Given the description of an element on the screen output the (x, y) to click on. 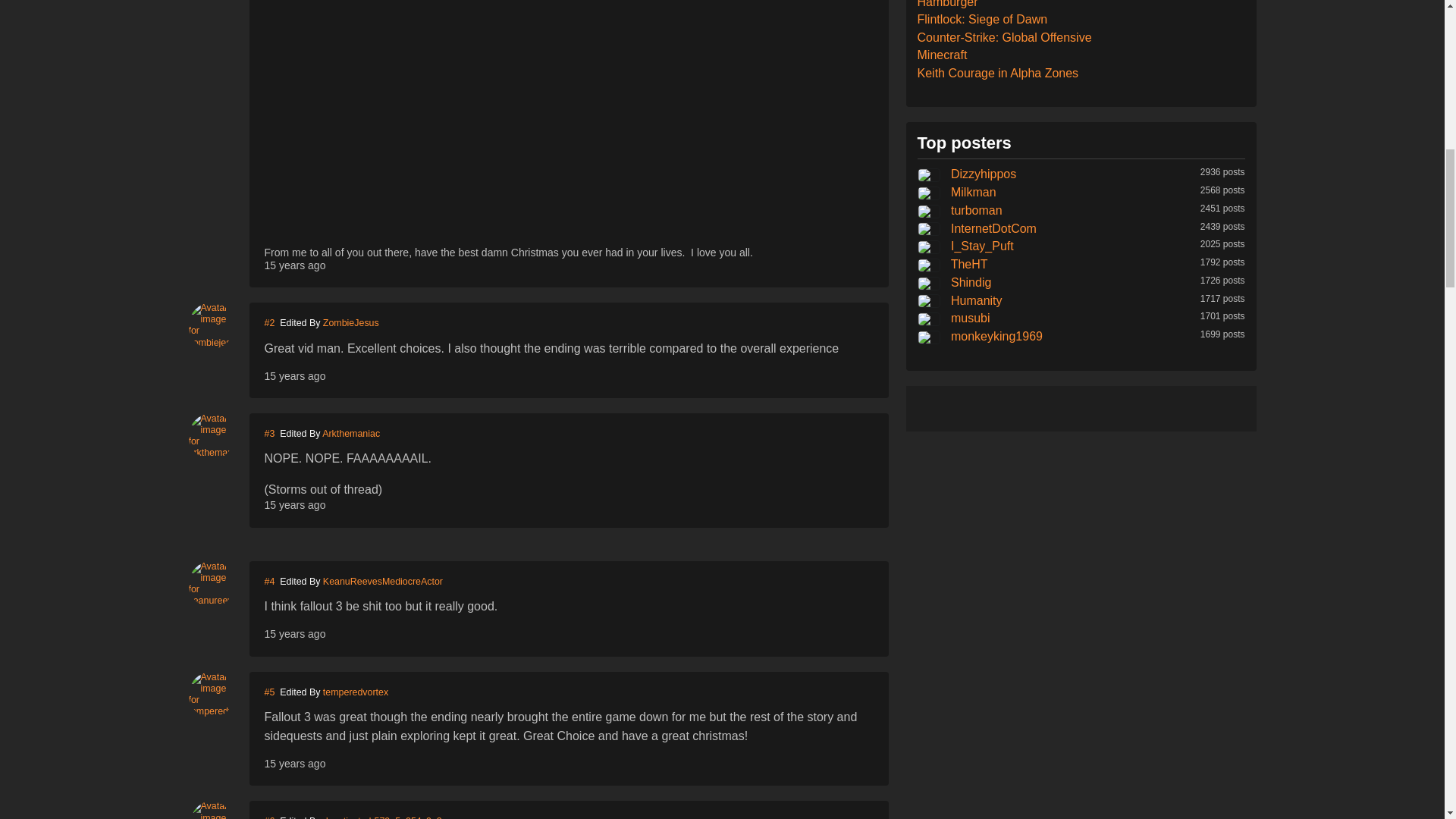
Dec 23, 2008, 7:36pm (293, 633)
Dec 23, 2008, 7:03pm (293, 504)
Dec 23, 2008, 6:56pm (293, 265)
Dec 23, 2008, 8:29pm (293, 763)
Dec 23, 2008, 6:59pm (293, 376)
